Given the description of an element on the screen output the (x, y) to click on. 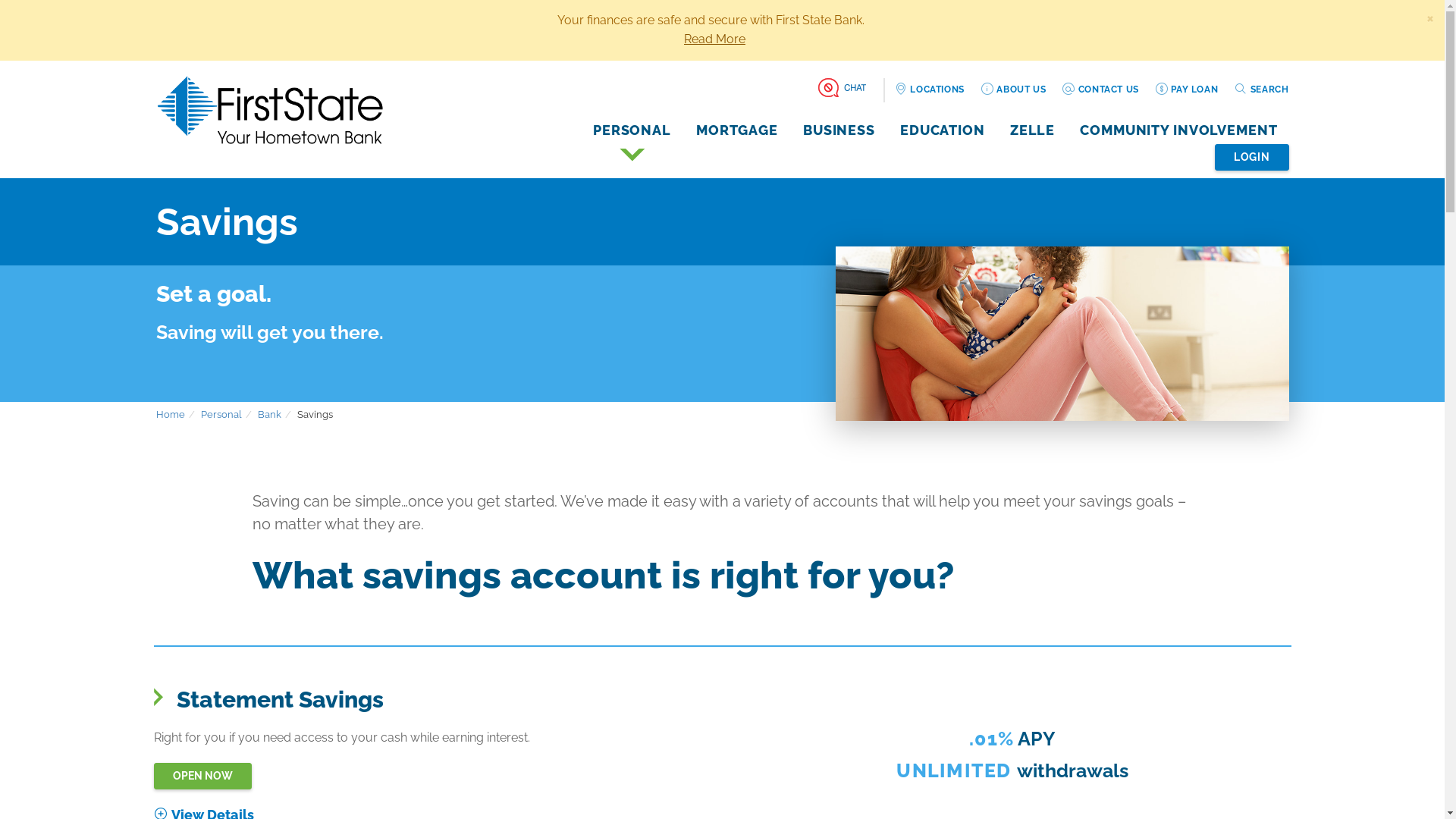
BUSINESS Element type: text (839, 130)
ABOUT US Element type: text (1012, 89)
Bank Element type: text (269, 414)
LOCATIONS Element type: text (929, 89)
PAY LOAN Element type: text (1185, 89)
COMMUNITY INVOLVEMENT Element type: text (1178, 130)
OPEN NOW Element type: text (202, 775)
EDUCATION Element type: text (942, 130)
CONTACT US Element type: text (1100, 89)
SEARCH Element type: text (1260, 89)
Read More Element type: text (714, 38)
ZELLE Element type: text (1032, 130)
Personal Element type: text (220, 414)
Home Element type: text (170, 414)
MORTGAGE Element type: text (737, 130)
PERSONAL Element type: text (632, 130)
LOGIN Element type: text (1251, 157)
